Given the description of an element on the screen output the (x, y) to click on. 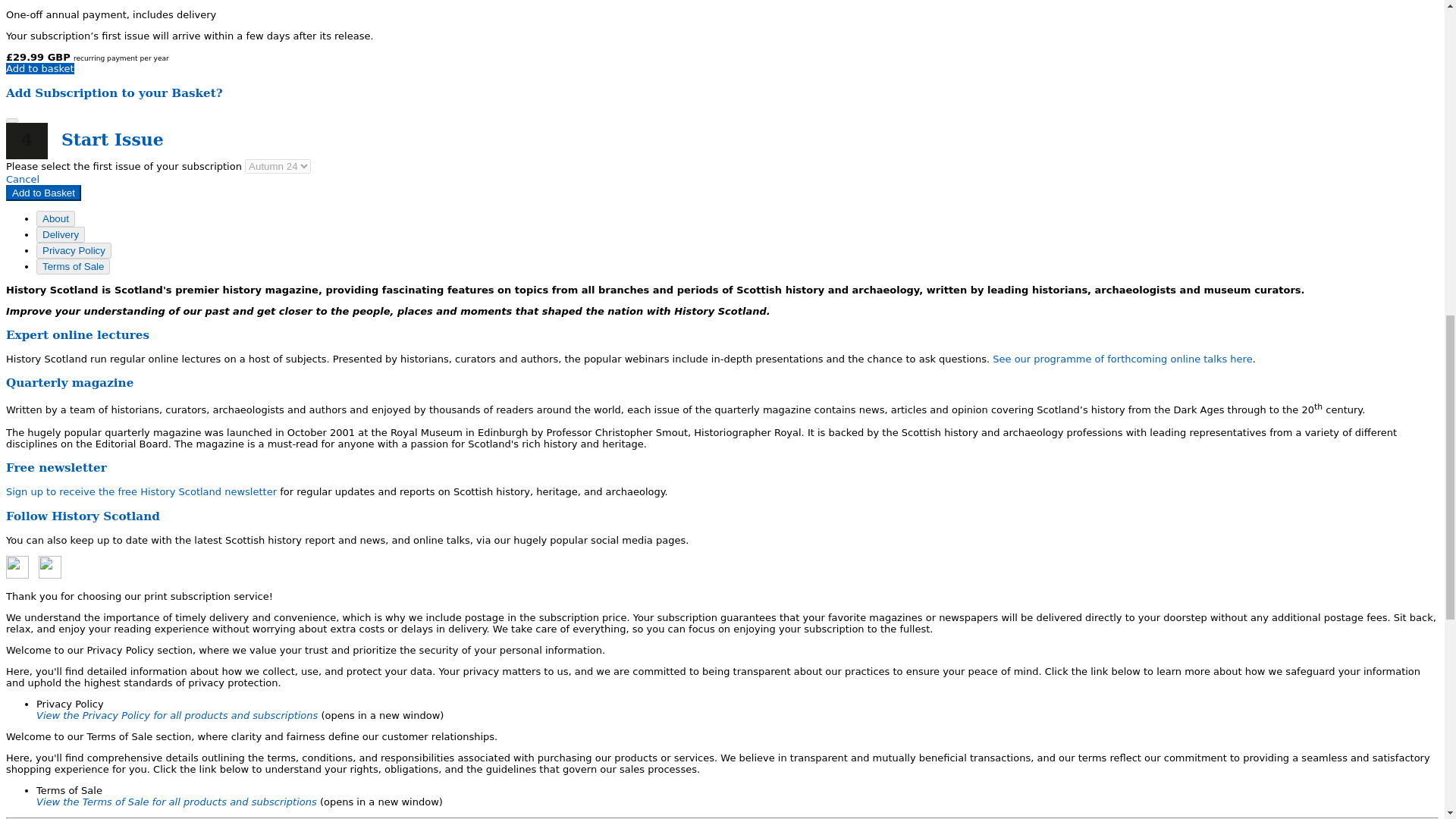
Sign up to receive the free History Scotland newsletter (140, 491)
Delivery (60, 234)
Privacy Policy (74, 250)
Terms of Sale (73, 266)
Cancel (22, 179)
See our programme of forthcoming online talks here (1122, 358)
View the Privacy Policy for all products and subscriptions (178, 715)
View the Terms of Sale for all products and subscriptions (178, 801)
Add to Basket (43, 192)
Add to basket (39, 68)
About (55, 218)
